Given the description of an element on the screen output the (x, y) to click on. 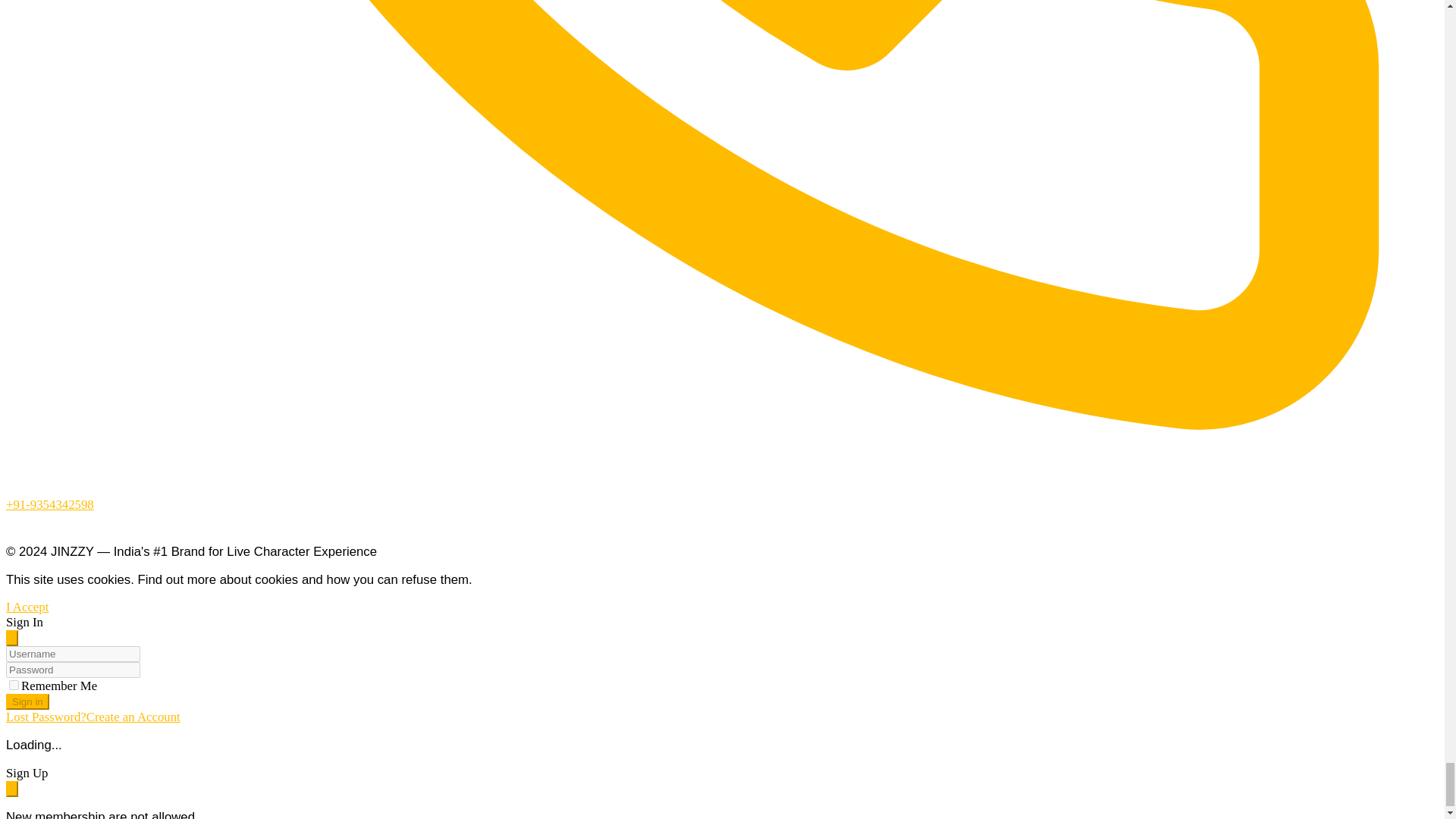
none (13, 685)
